Given the description of an element on the screen output the (x, y) to click on. 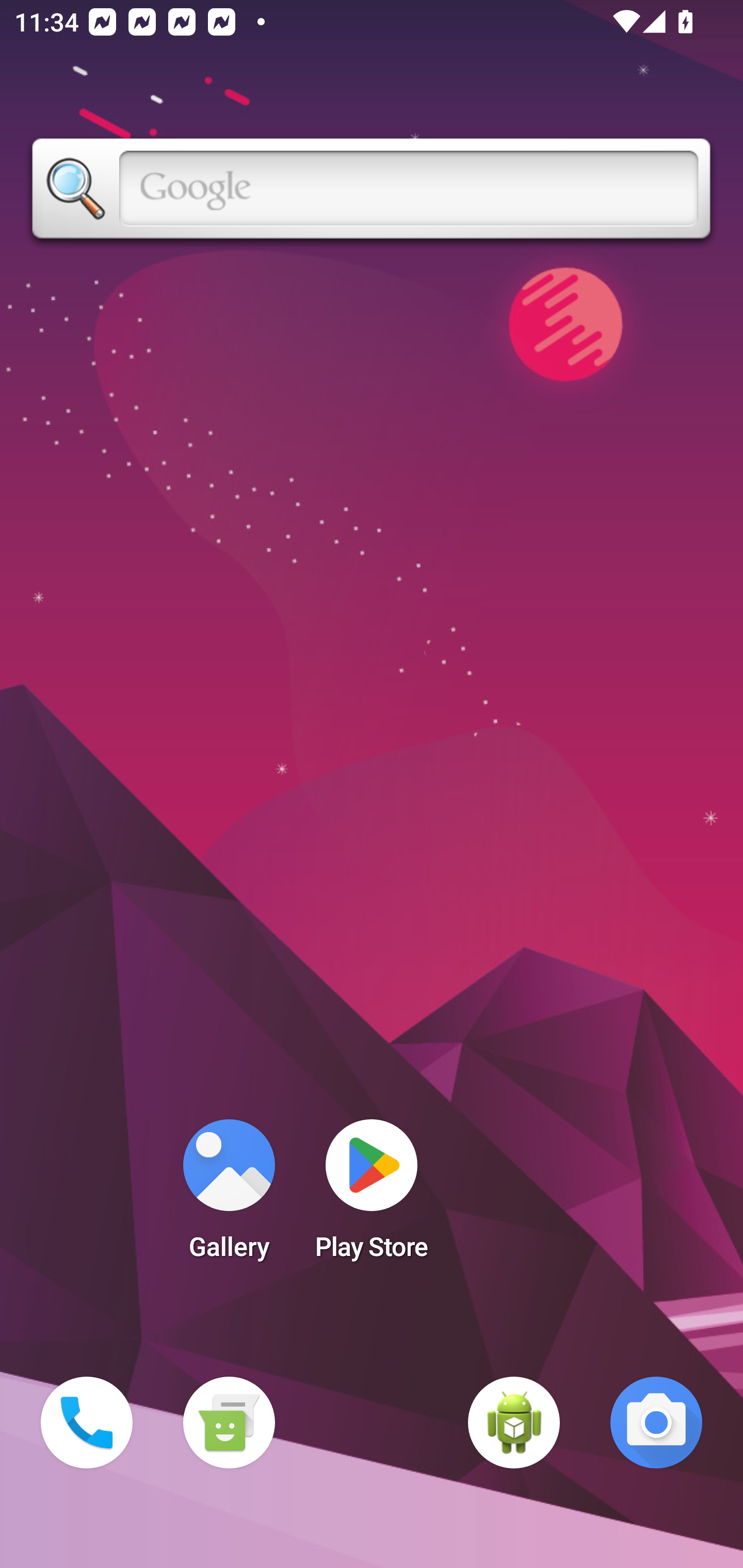
Gallery (228, 1195)
Play Store (371, 1195)
Phone (86, 1422)
Messaging (228, 1422)
WebView Browser Tester (513, 1422)
Camera (656, 1422)
